Given the description of an element on the screen output the (x, y) to click on. 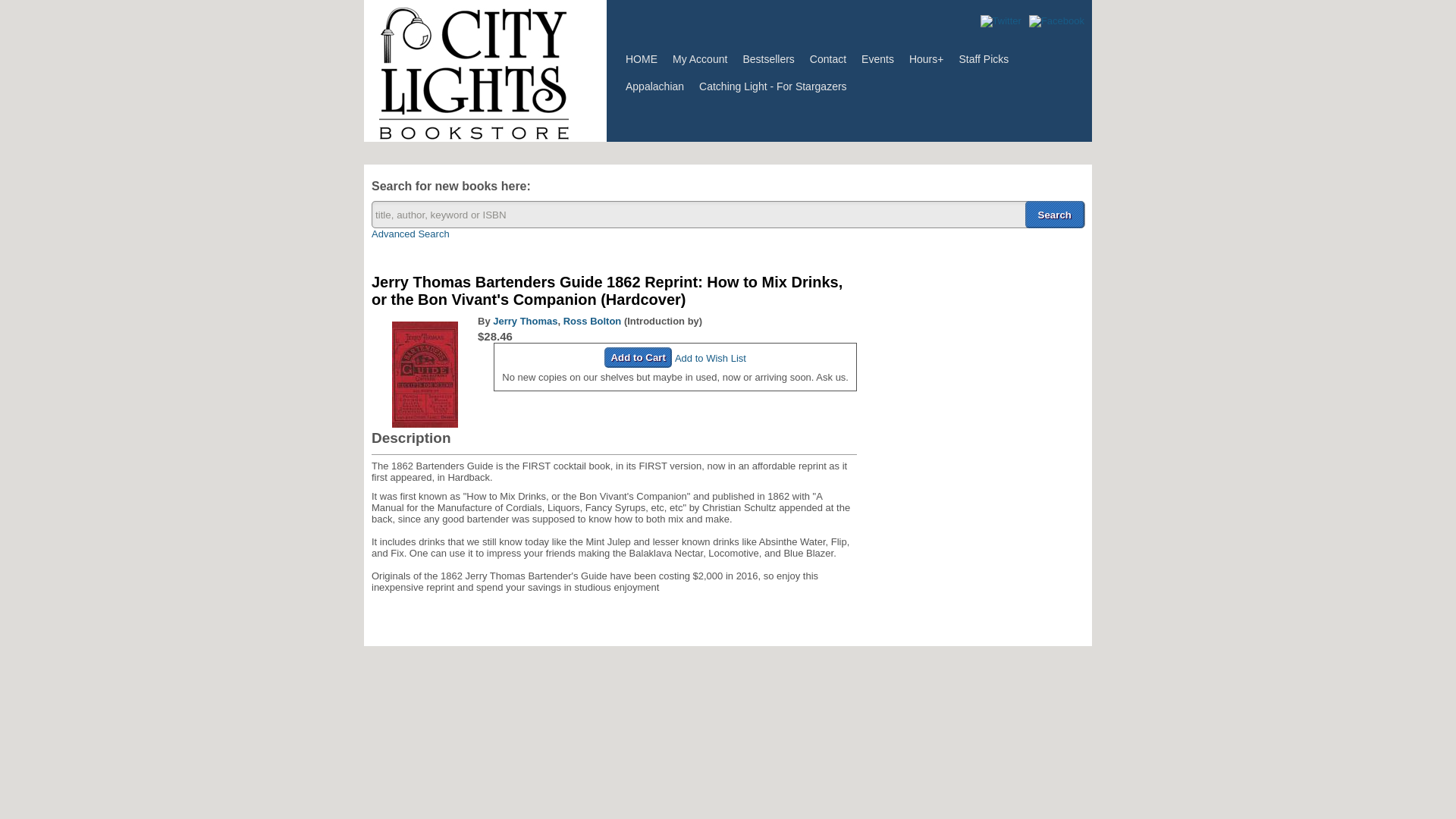
Jerry Thomas (525, 320)
Add to Wish List (710, 357)
Advanced Search (410, 233)
Enter the terms you wish to search for. (727, 214)
Catching Light - For Stargazers (772, 85)
Add to Cart (637, 357)
Staff Picks (983, 58)
Bestsellers (768, 58)
What's Up in the Night Sky? (772, 85)
